Given the description of an element on the screen output the (x, y) to click on. 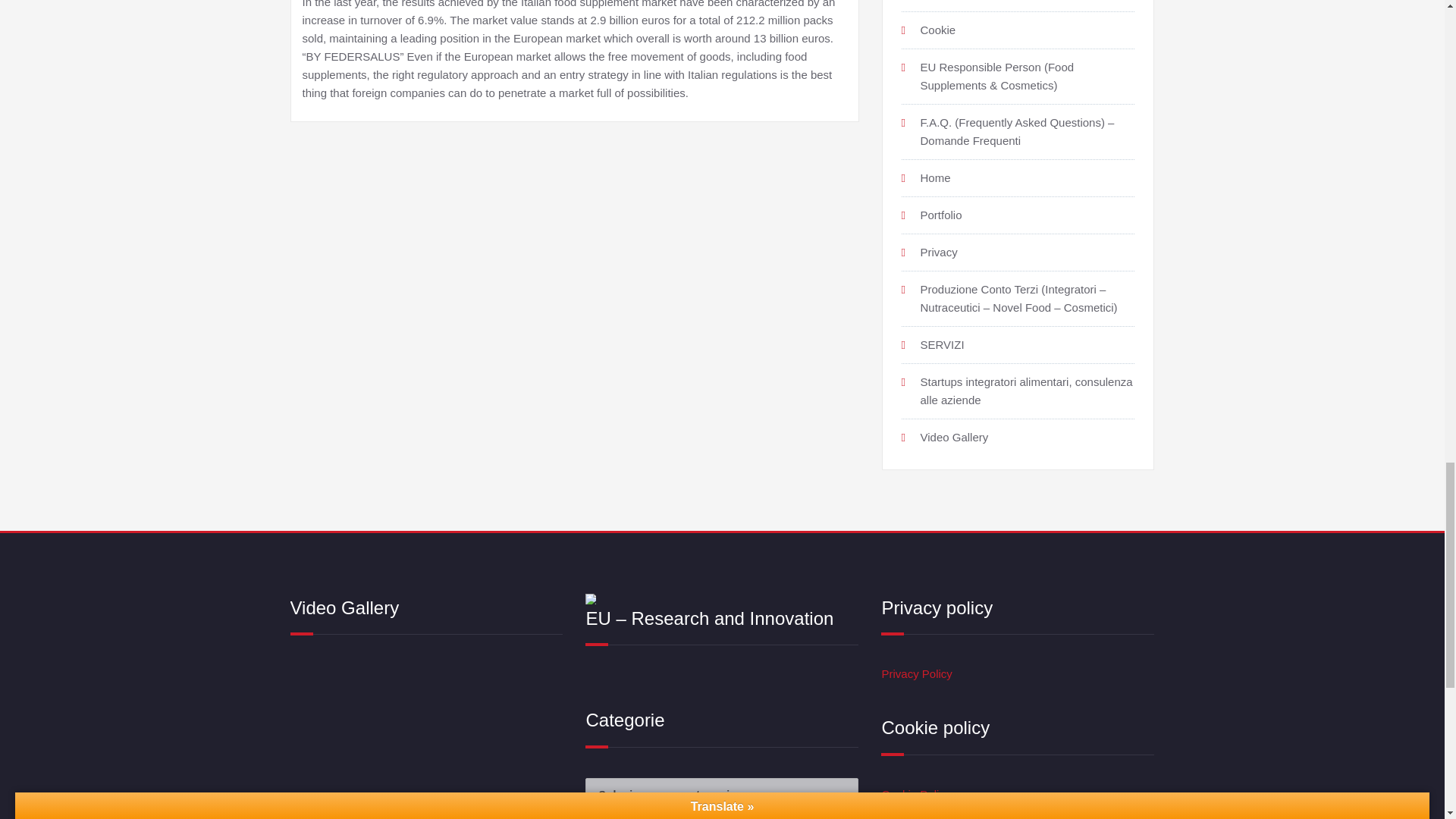
Privacy Policy  (916, 673)
Cookie Policy  (915, 793)
